Given the description of an element on the screen output the (x, y) to click on. 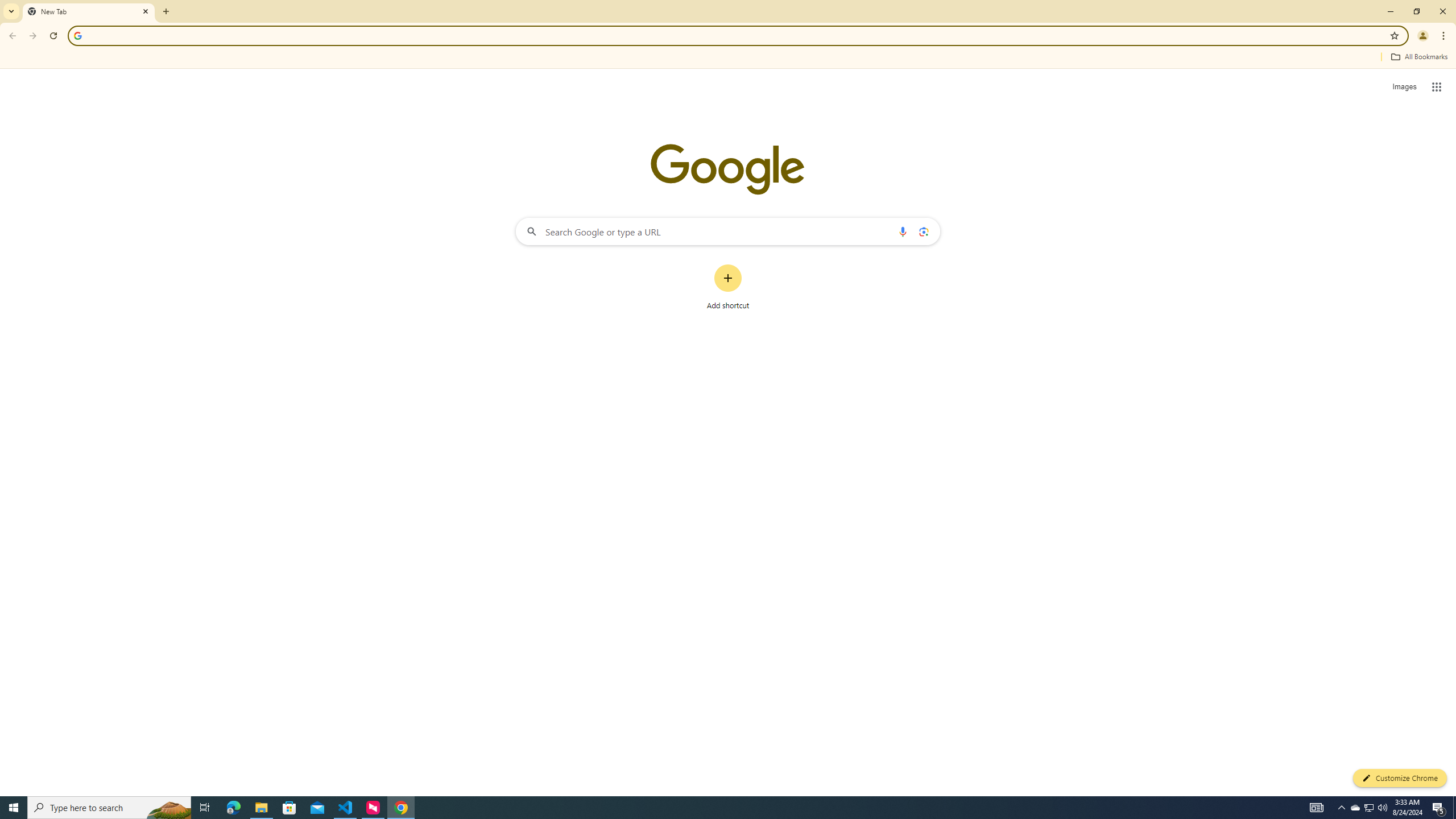
All Bookmarks (1418, 56)
New Tab (88, 11)
Search icon (77, 35)
